Given the description of an element on the screen output the (x, y) to click on. 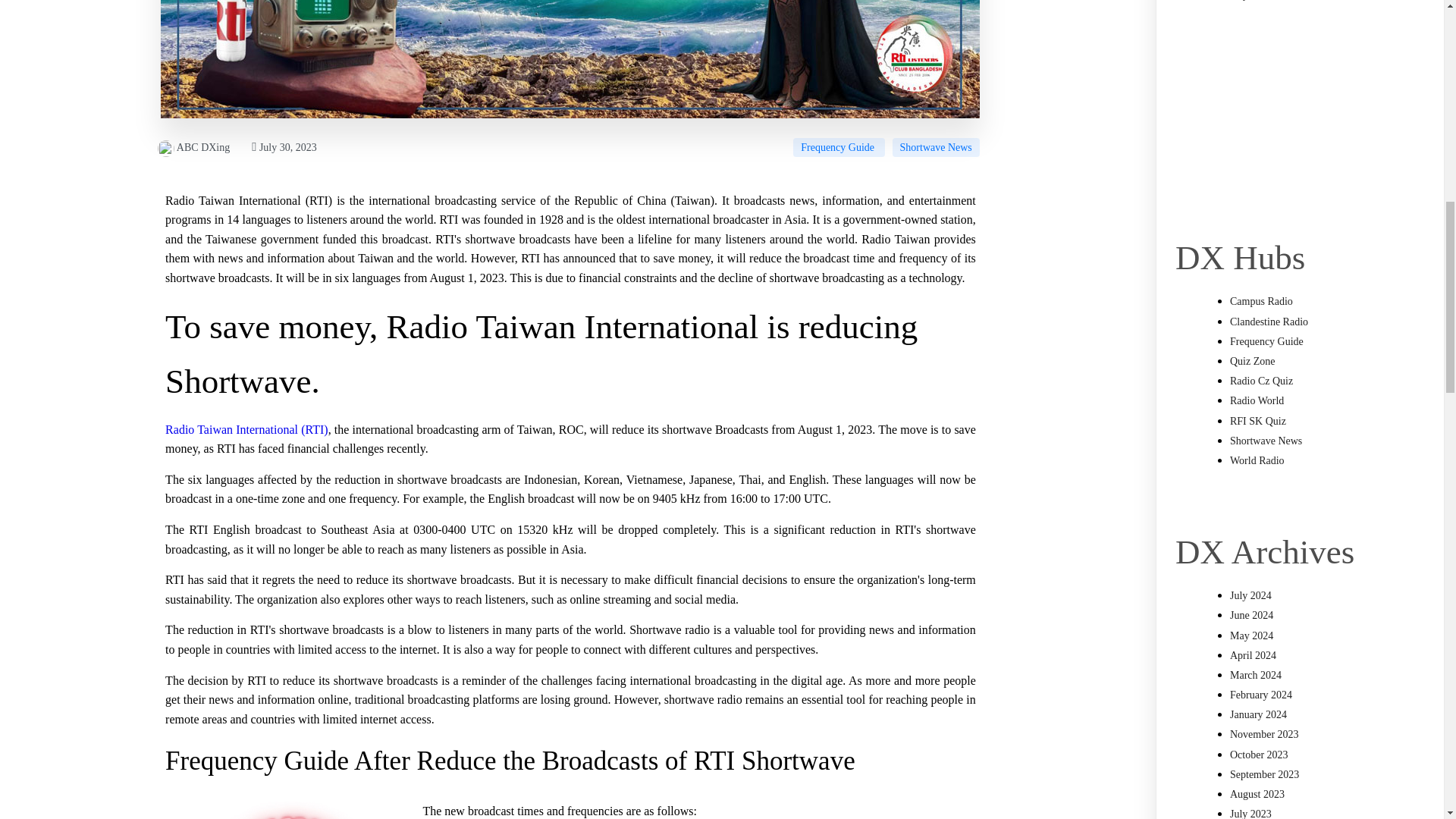
July 30, 2023 (283, 147)
Shortwave News (935, 147)
ABC DXing (193, 147)
Advertisement (1299, 117)
Frequency Guide (838, 147)
